Given the description of an element on the screen output the (x, y) to click on. 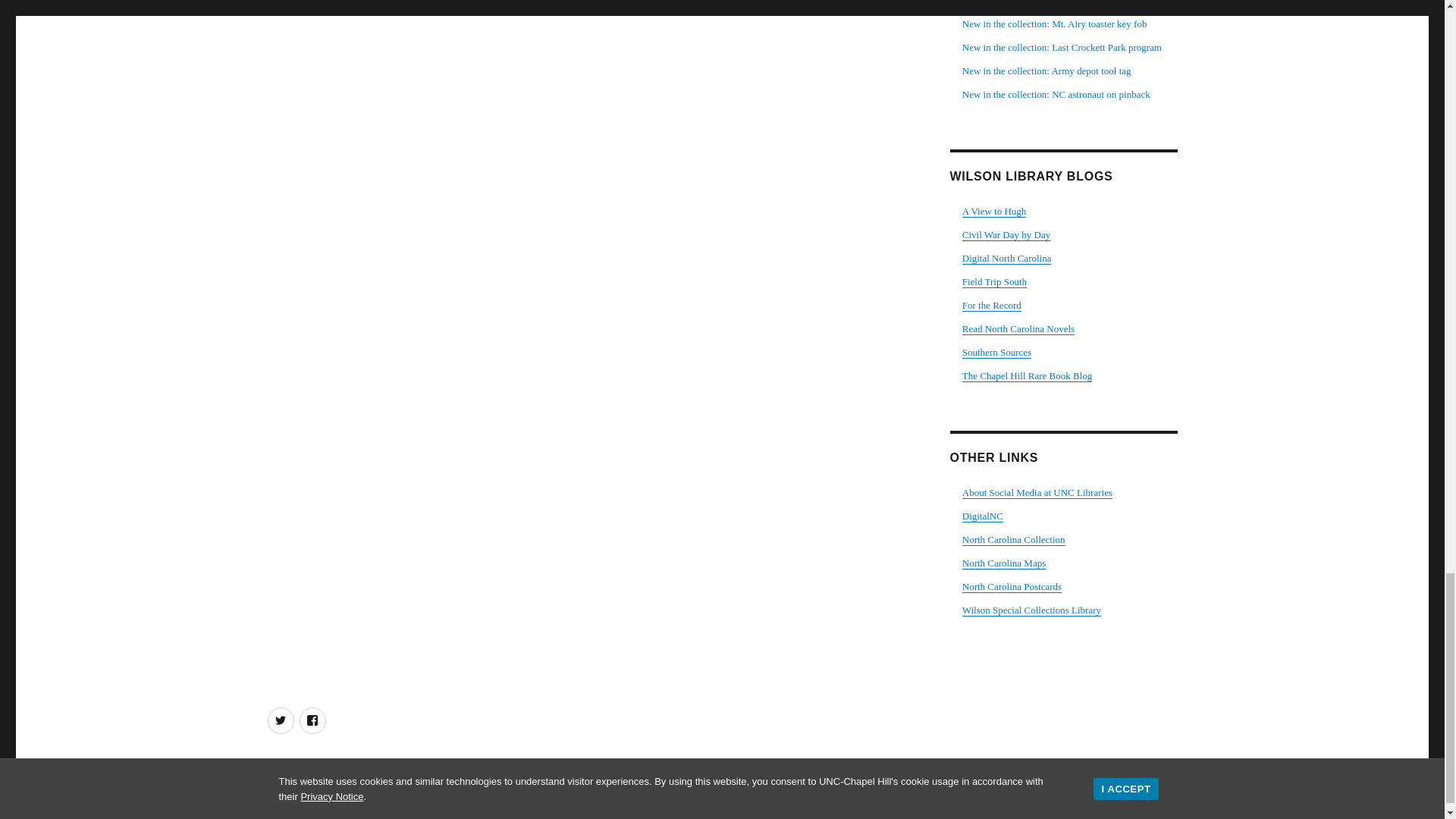
 Processing the Hugh Morton Photographs and Films (994, 211)
 Exploring the Southern Folklife Collection (994, 281)
Highlights from the North Carolina Digital Heritage Center (1006, 257)
A guide to recent fiction set in North Carolina (1018, 328)
